Given the description of an element on the screen output the (x, y) to click on. 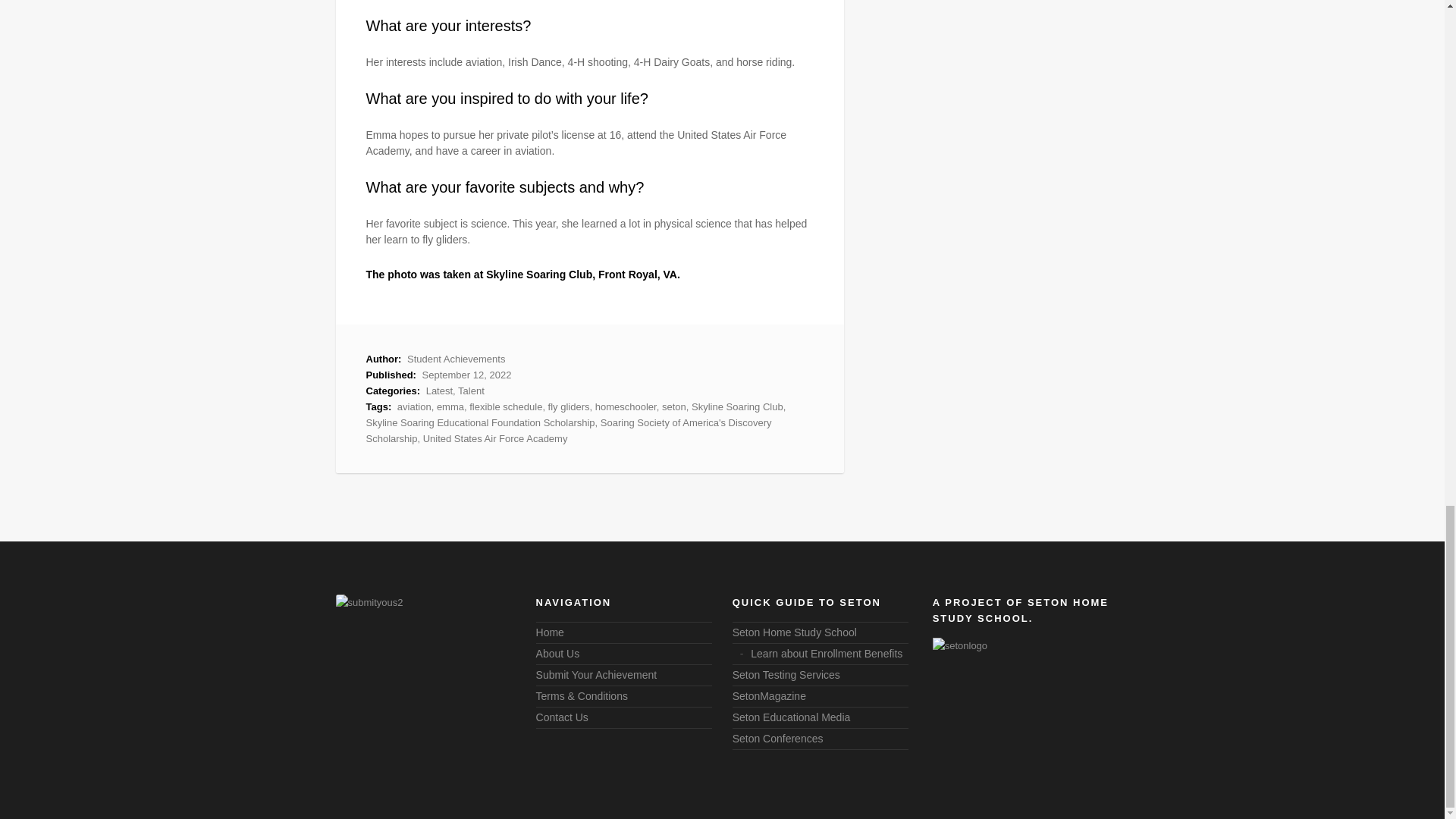
Posts by Student Achievements (456, 358)
homeschooler (625, 406)
emma (450, 406)
Soaring Society of America's Discovery Scholarship (568, 430)
flexible schedule (504, 406)
United States Air Force Academy (495, 438)
Latest (439, 390)
seton (673, 406)
Student Achievements (456, 358)
Skyline Soaring Educational Foundation Scholarship (479, 422)
